Given the description of an element on the screen output the (x, y) to click on. 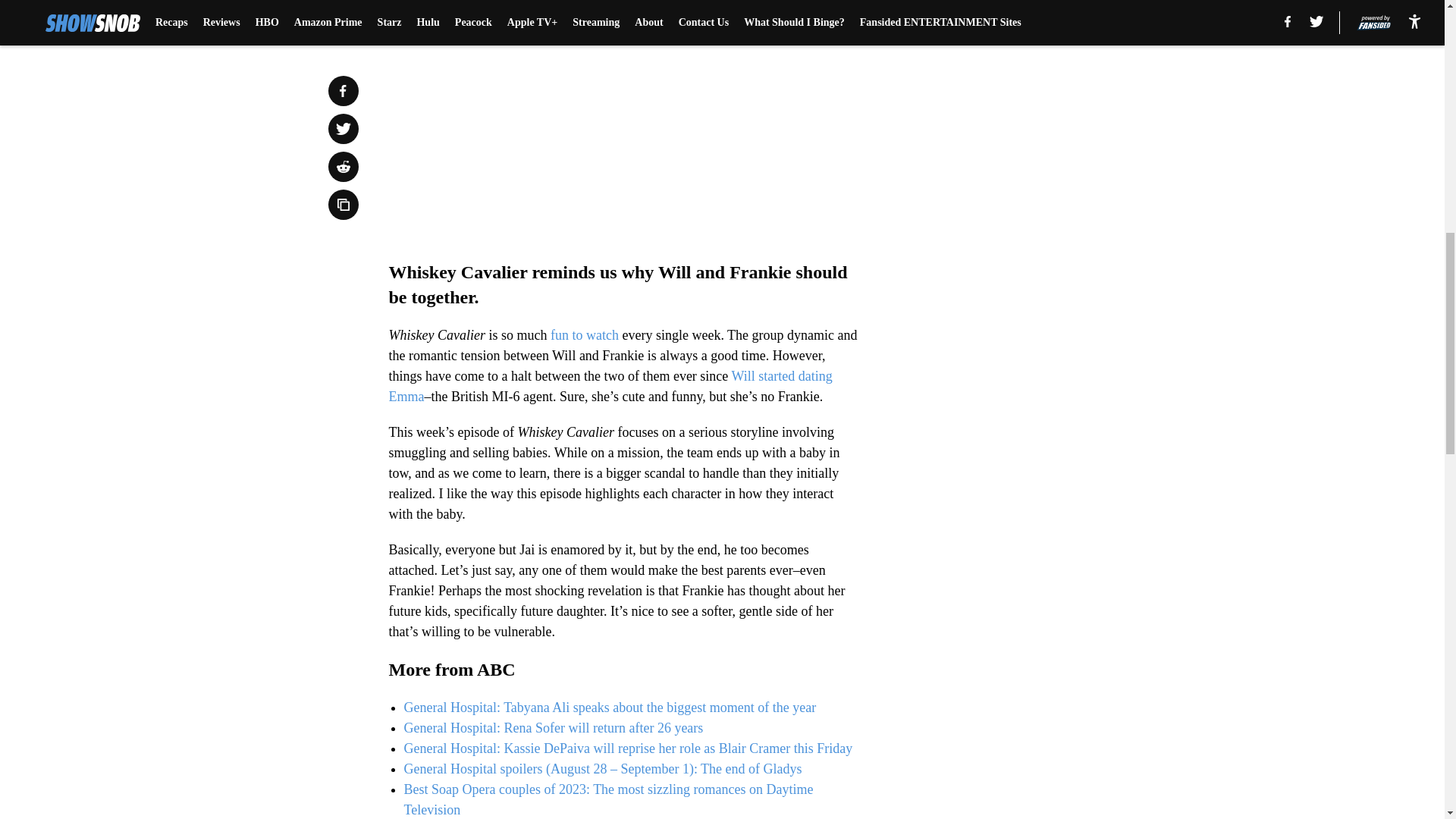
Will started dating Emma (609, 386)
fun to watch (582, 335)
General Hospital: Rena Sofer will return after 26 years (553, 727)
